Given the description of an element on the screen output the (x, y) to click on. 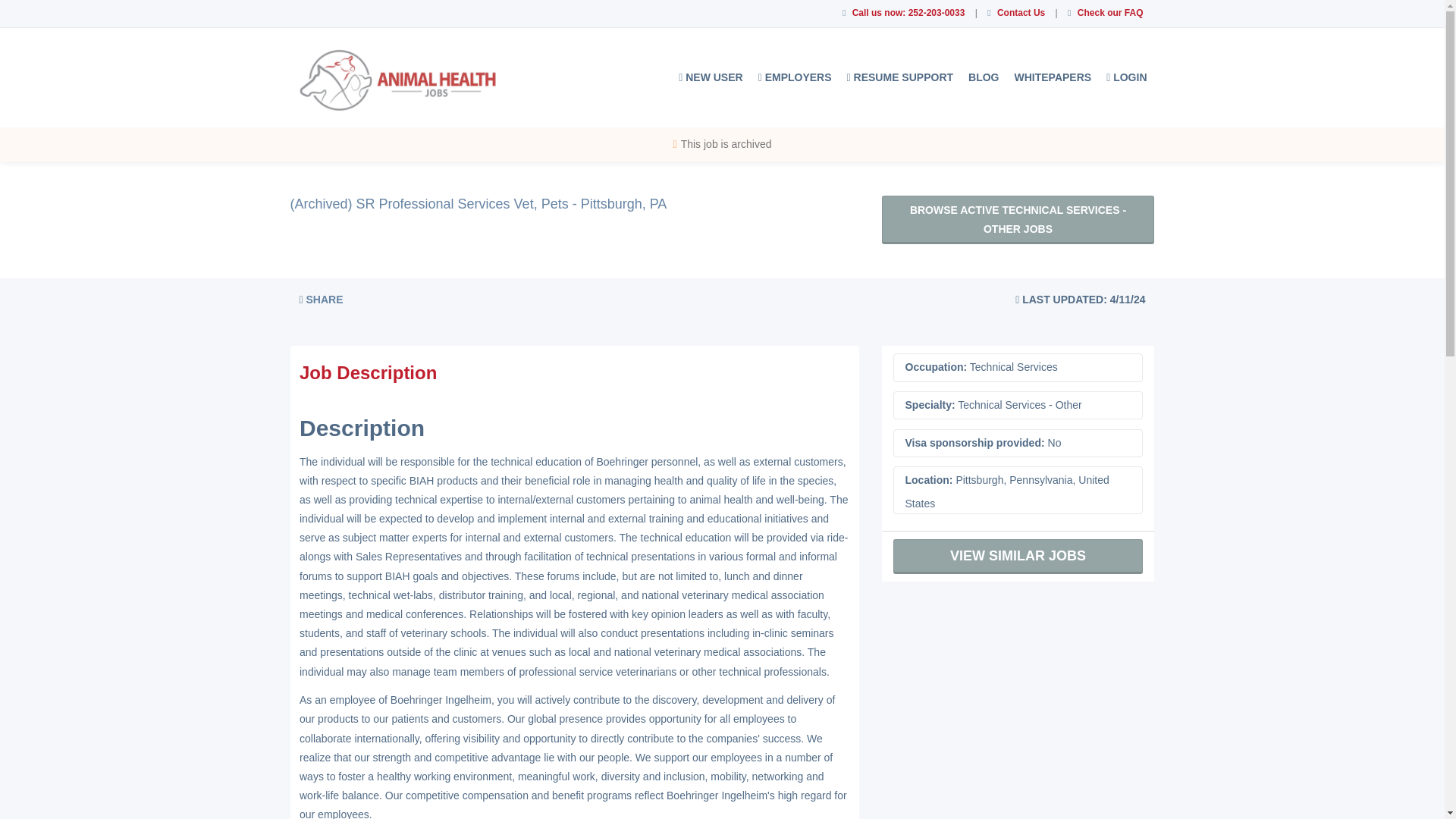
EMPLOYERS (795, 77)
Contact Us (1021, 12)
VIEW SIMILAR JOBS (1017, 556)
WHITEPAPERS (1053, 77)
BROWSE ACTIVE TECHNICAL SERVICES - OTHER JOBS (1017, 219)
SHARE (320, 299)
Check our FAQ (1109, 12)
RESUME SUPPORT (900, 77)
